Given the description of an element on the screen output the (x, y) to click on. 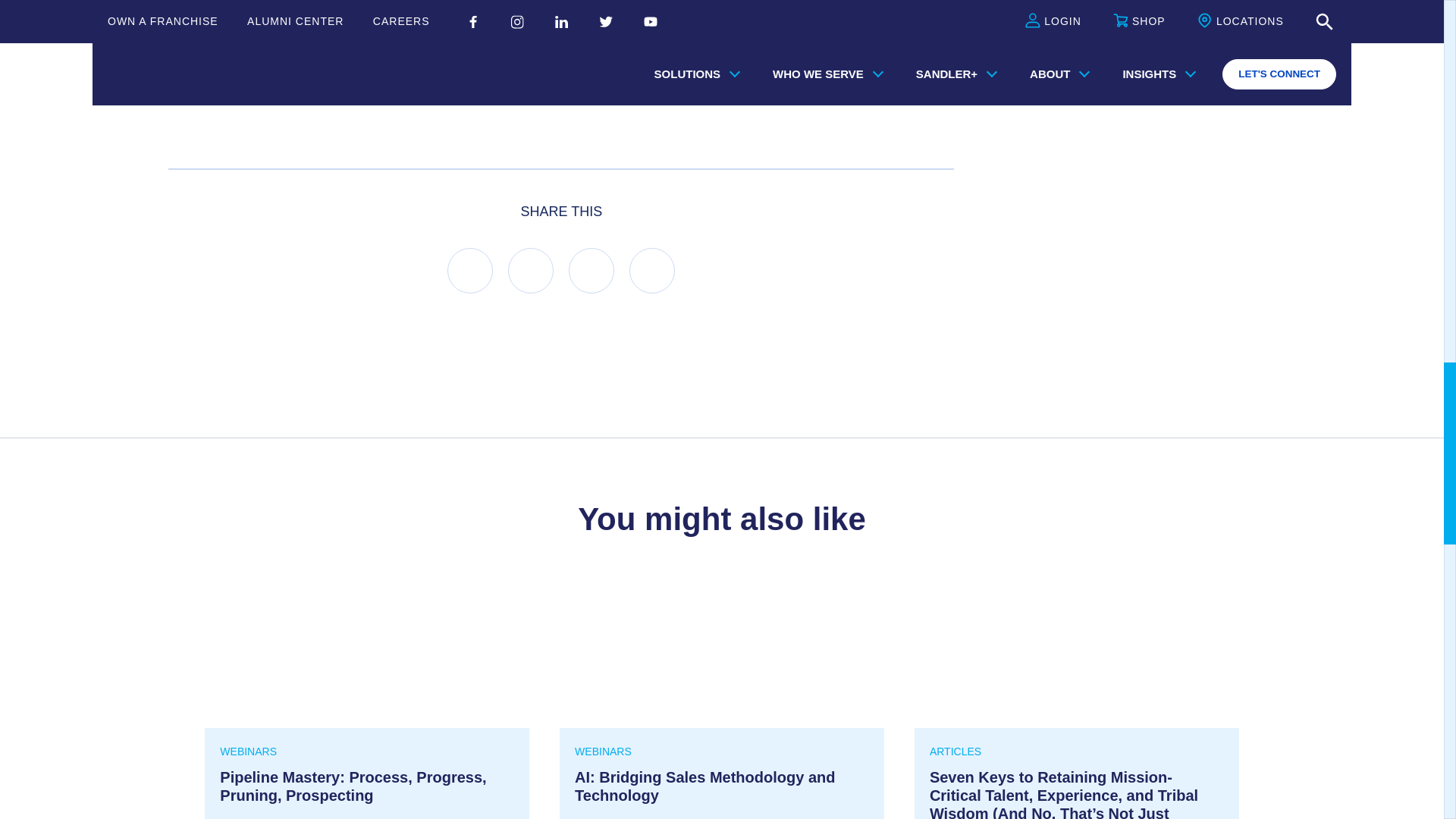
LinkedIn (530, 270)
Twitter (591, 270)
Email (651, 270)
Facebook (469, 270)
